Given the description of an element on the screen output the (x, y) to click on. 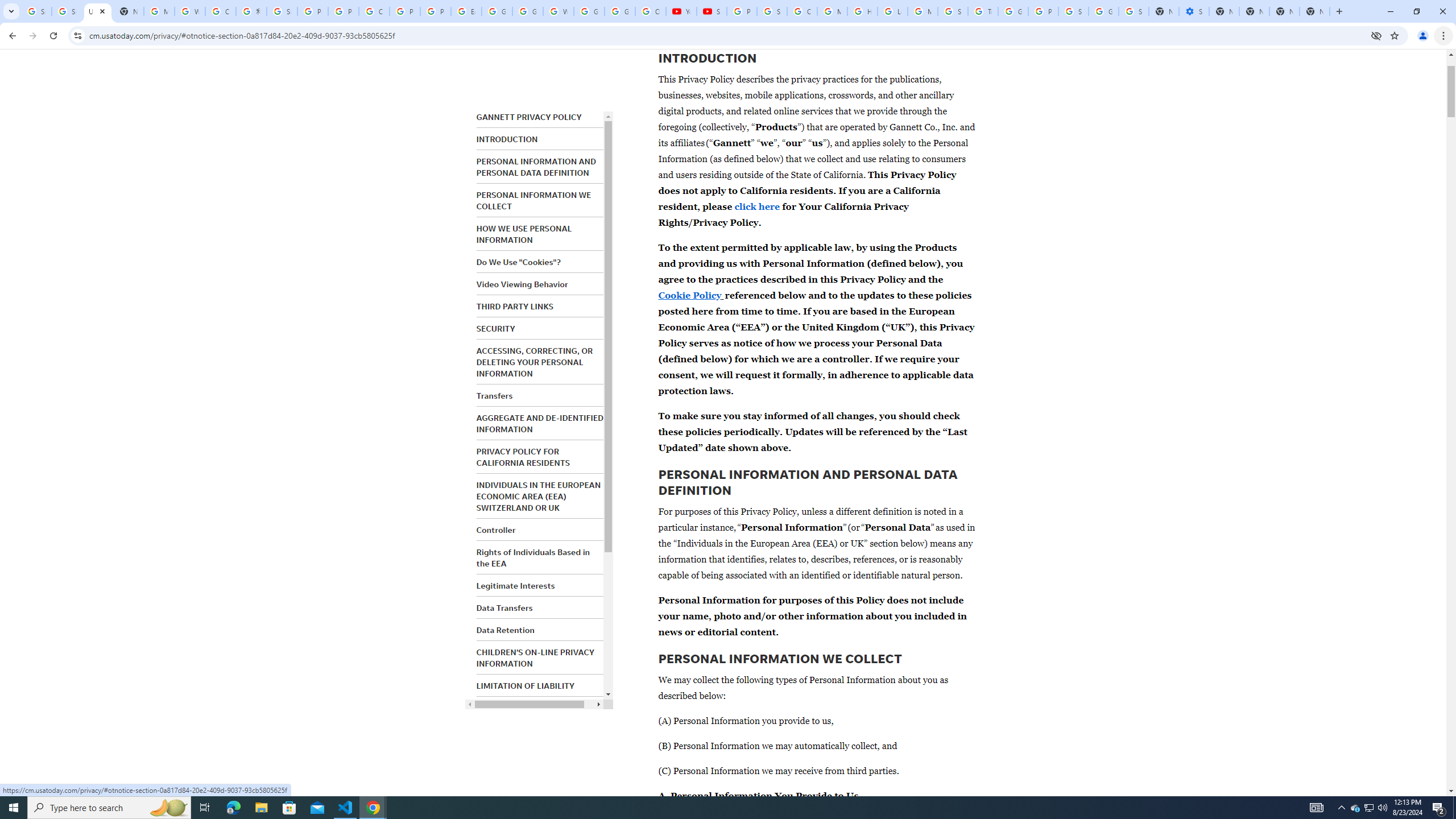
PRIVACY POLICY FOR CALIFORNIA RESIDENTS (522, 457)
INDEMNIFICATION (512, 707)
Who is my administrator? - Google Account Help (189, 11)
Cookie Policy (690, 294)
SECURITY (495, 328)
Minimize (1390, 11)
Data Retention (505, 629)
Google Slides: Sign-in (496, 11)
PERSONAL INFORMATION AND PERSONAL DATA DEFINITION (536, 166)
Create your Google Account (373, 11)
